Given the description of an element on the screen output the (x, y) to click on. 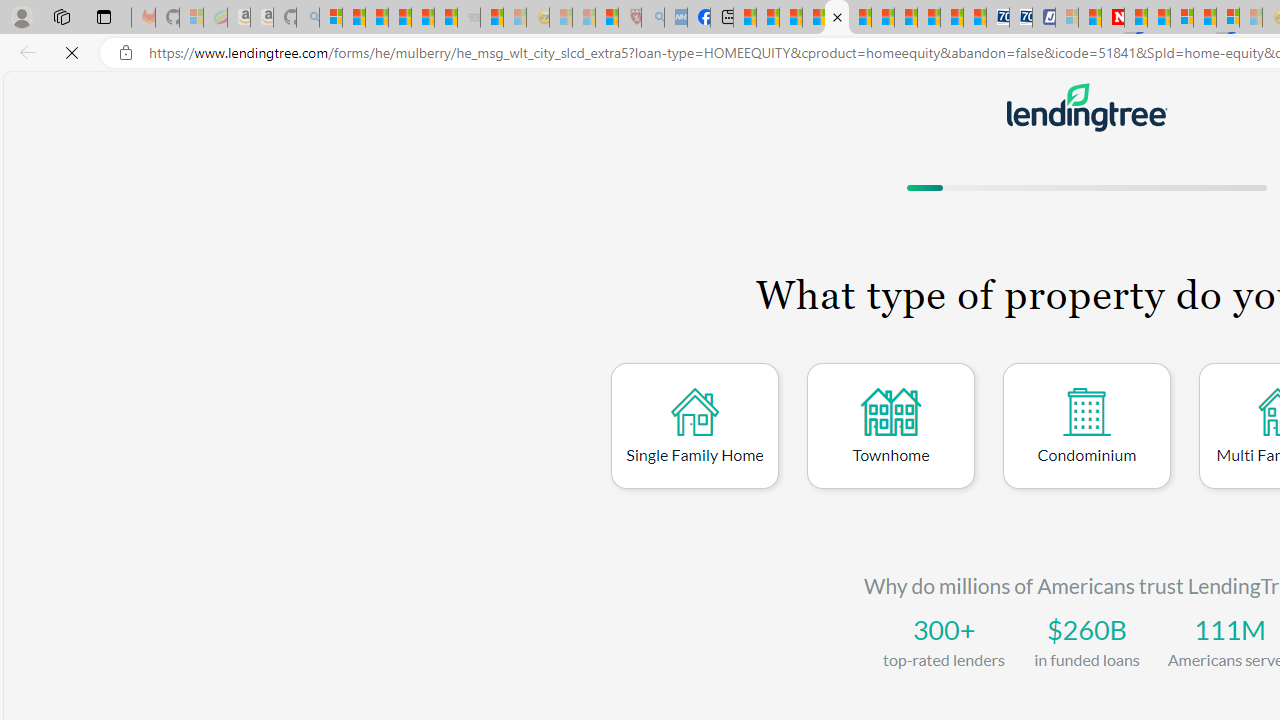
list of asthma inhalers uk - Search - Sleeping (653, 17)
New Report Confirms 2023 Was Record Hot | Watch (422, 17)
Trusted Community Engagement and Contributions | Guidelines (1135, 17)
The Weather Channel - MSN (376, 17)
